Given the description of an element on the screen output the (x, y) to click on. 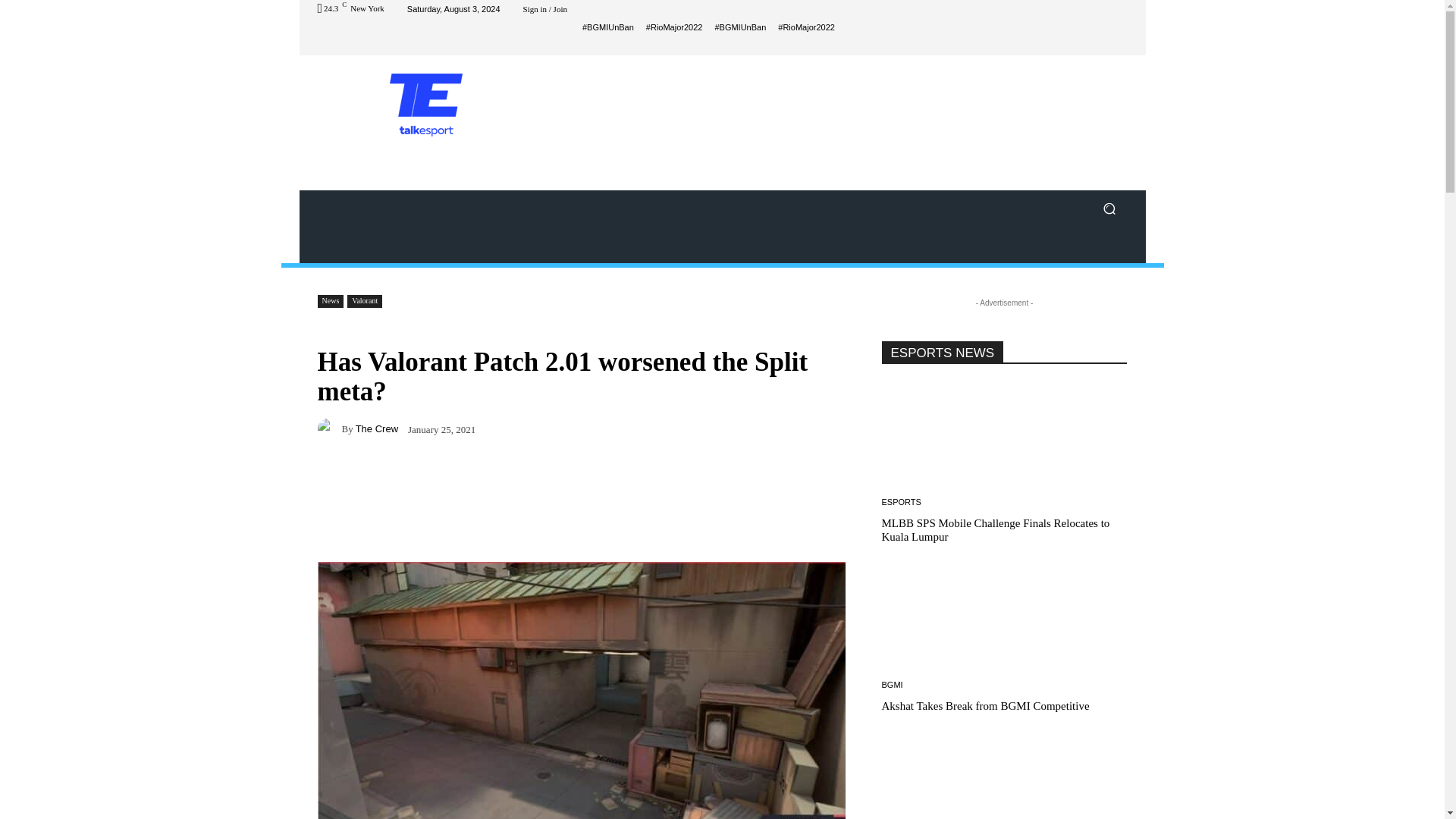
The Crew (328, 428)
